Given the description of an element on the screen output the (x, y) to click on. 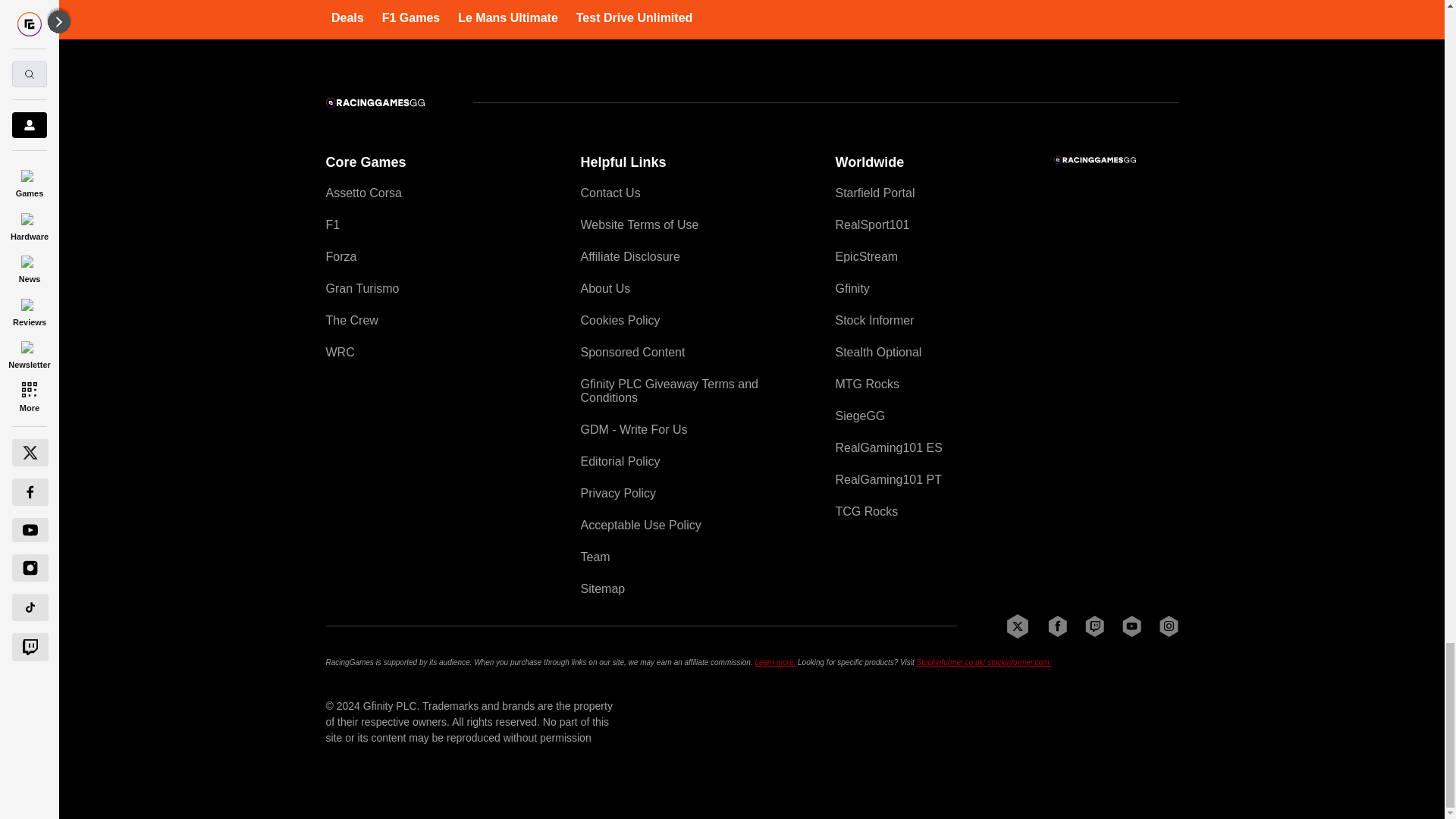
Latest News (1063, 6)
